Given the description of an element on the screen output the (x, y) to click on. 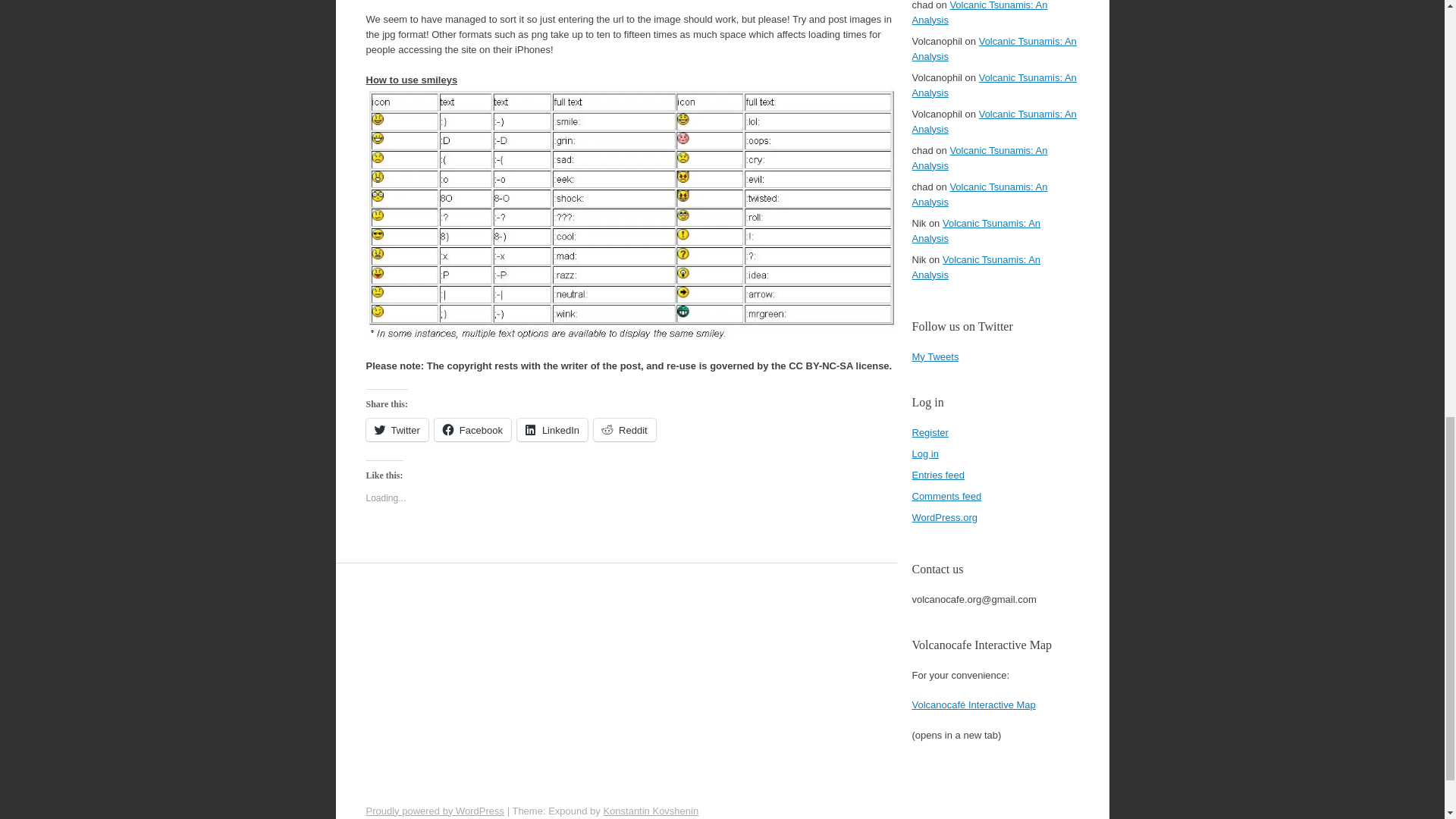
Twitter (396, 429)
Click to share on Reddit (625, 429)
Facebook (472, 429)
Click to share on Facebook (472, 429)
Click to share on Twitter (396, 429)
Click to share on LinkedIn (552, 429)
